Given the description of an element on the screen output the (x, y) to click on. 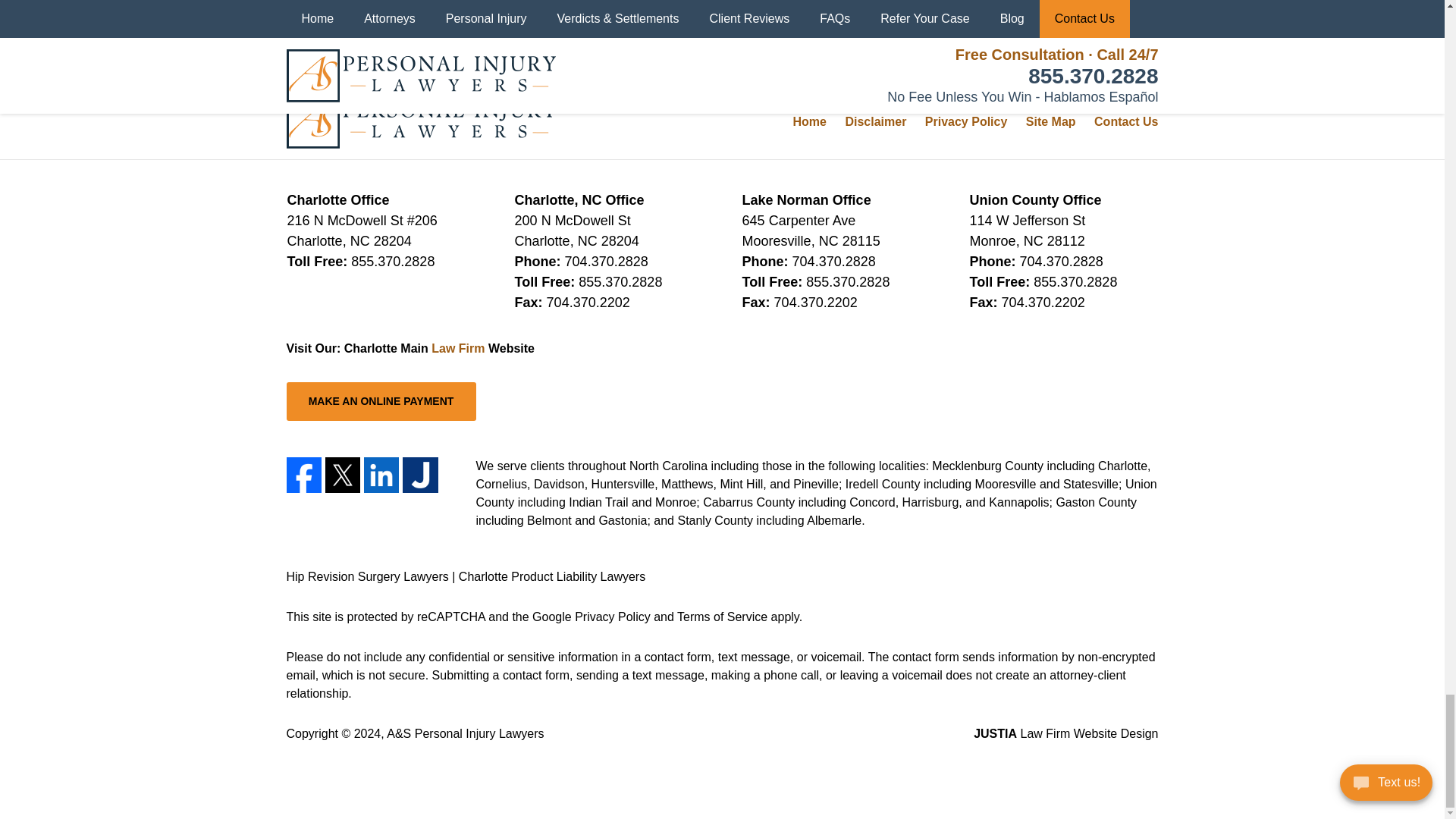
LinkedIn (381, 474)
Twitter (341, 474)
Justia (420, 474)
Facebook (303, 474)
